Given the description of an element on the screen output the (x, y) to click on. 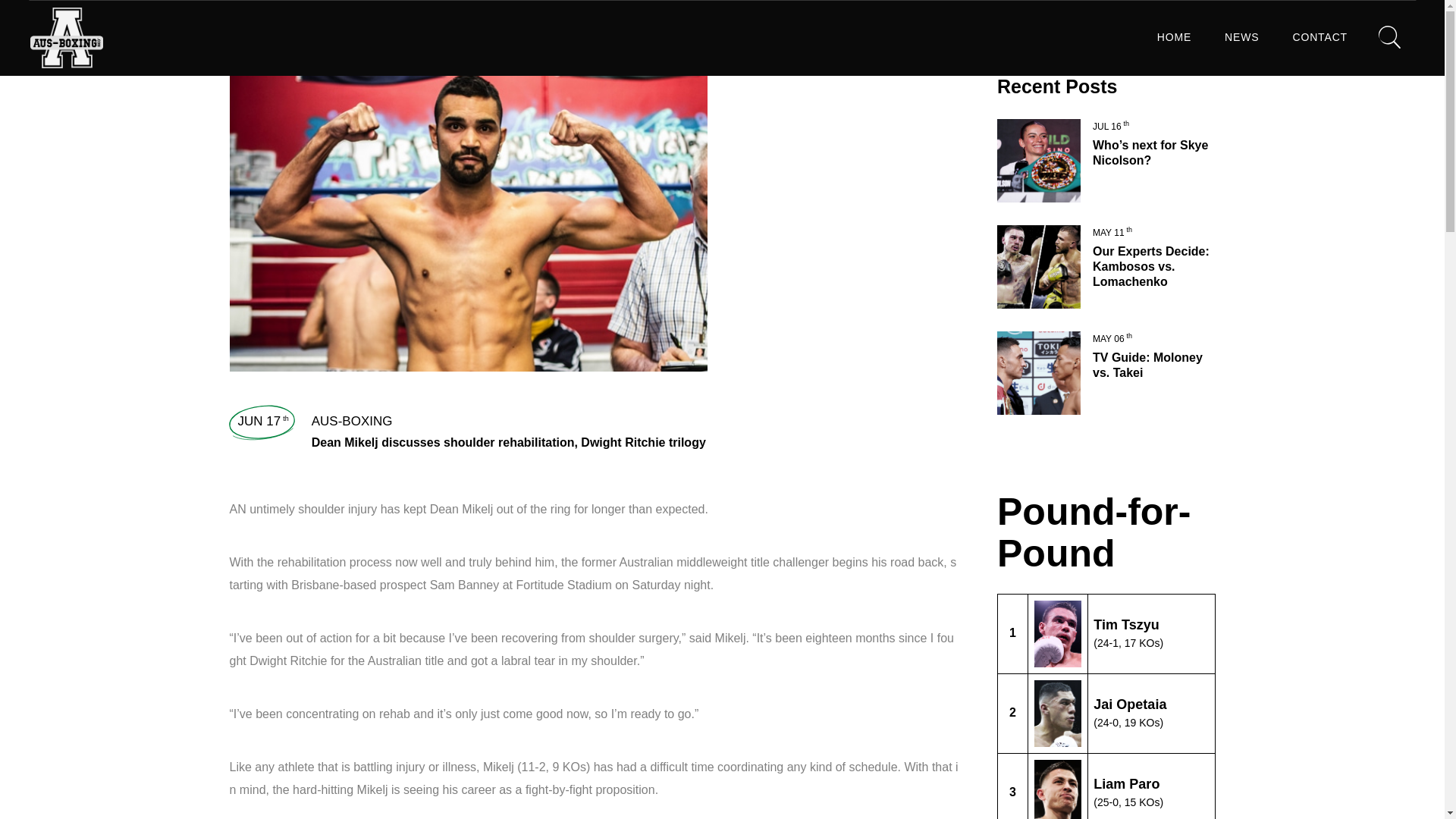
AUS-BOXING (352, 421)
Our Experts Decide: Kambosos vs. Lomachenko (1151, 266)
TV Guide: Moloney vs. Takei (1147, 365)
MAY 11th (1112, 232)
JUN 17th (263, 421)
MAY 06th (1112, 338)
JUL 16th (1111, 126)
